Given the description of an element on the screen output the (x, y) to click on. 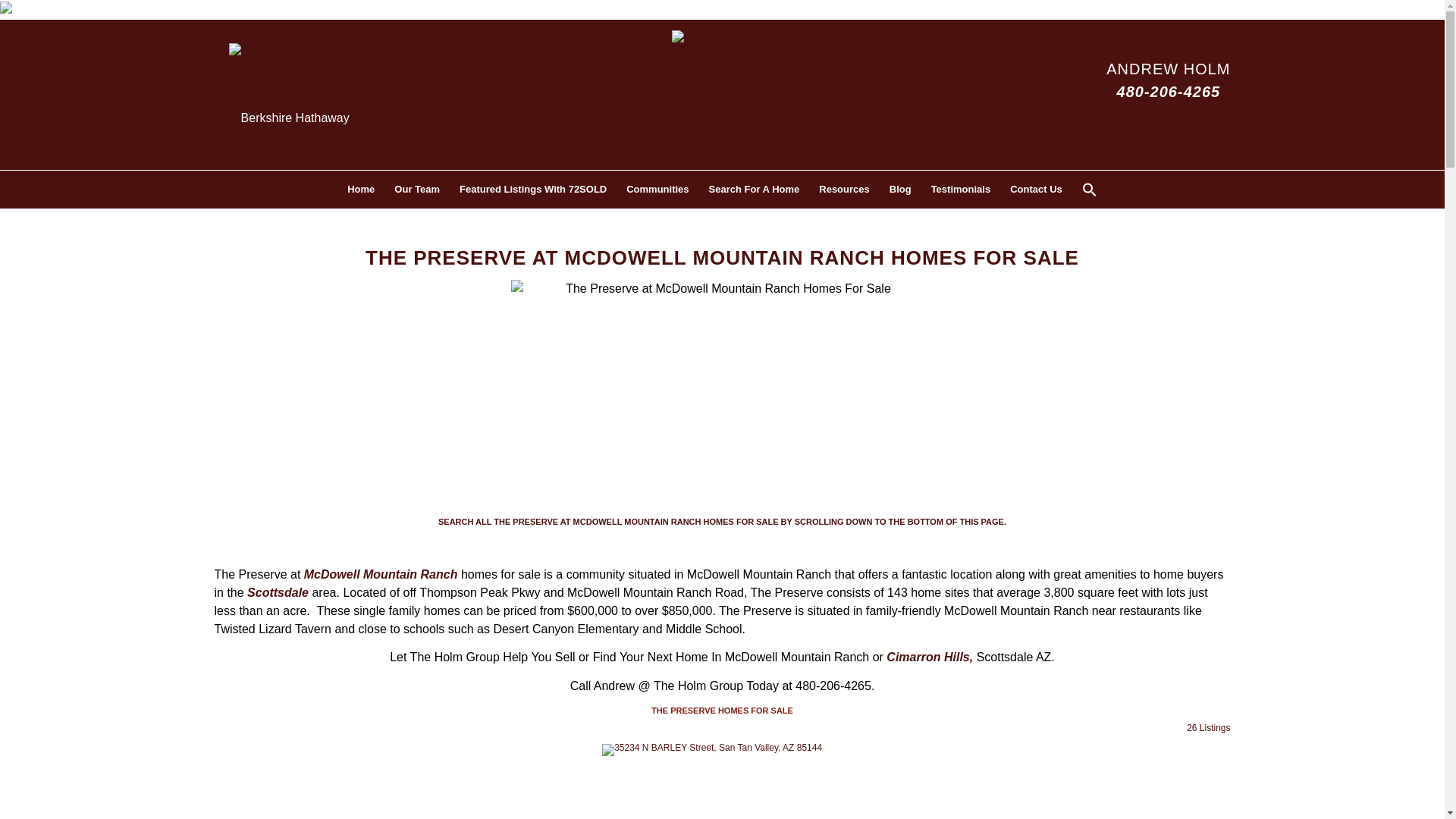
The Preserve at McDowell Mountain Ranch Homes For Sale (722, 392)
Contact Us (1035, 189)
Scottsdale (277, 592)
480-206-4265 (1168, 91)
logo (722, 47)
Blog (900, 189)
Testimonials (961, 189)
Home (360, 189)
Search For A Home (753, 189)
Featured Listings With 72SOLD (532, 189)
